Given the description of an element on the screen output the (x, y) to click on. 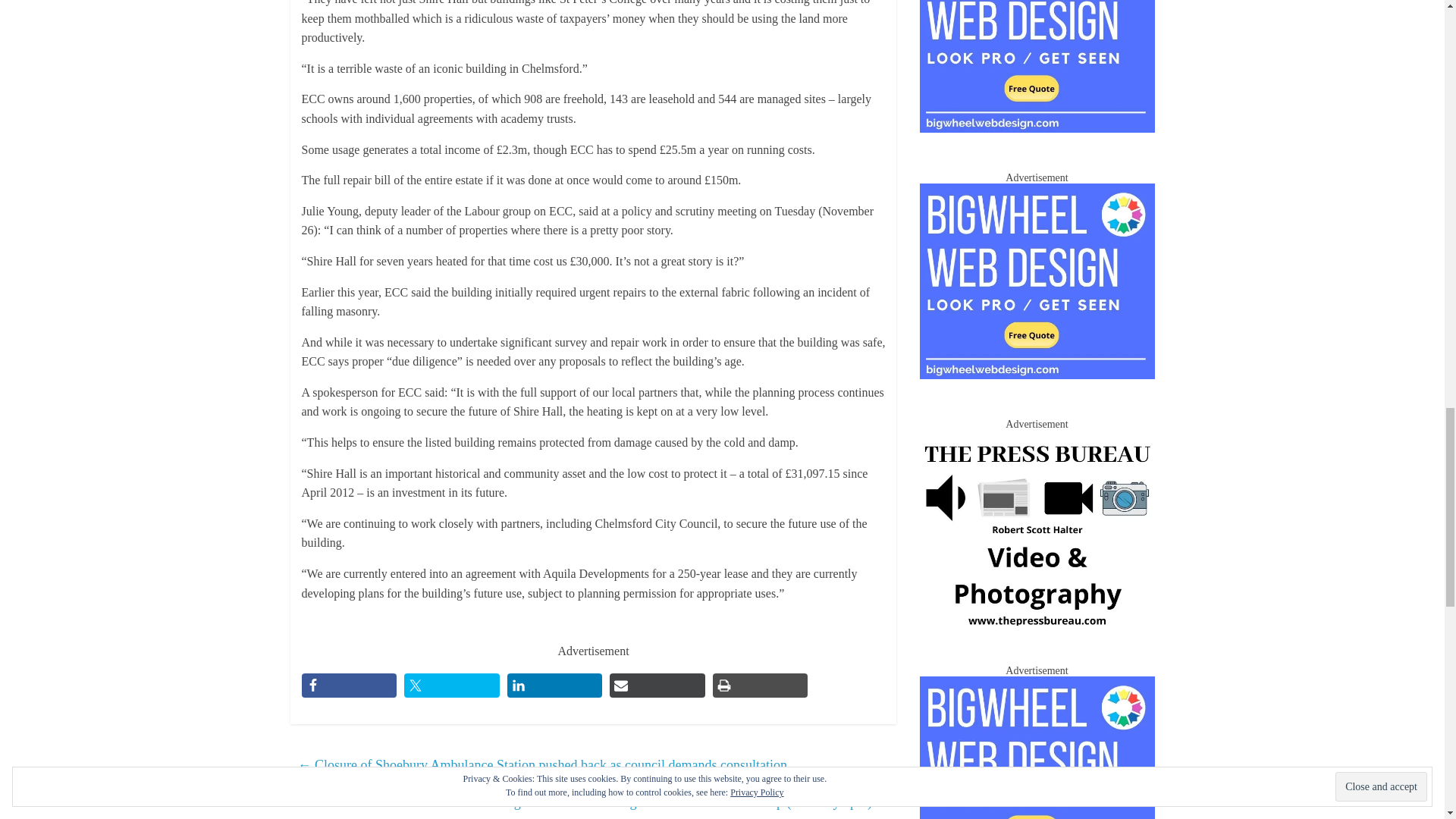
Share on LinkedIn (554, 685)
Print this Page (760, 685)
Share via Email (657, 685)
Share on Twitter (451, 685)
Share on Facebook (349, 685)
